Given the description of an element on the screen output the (x, y) to click on. 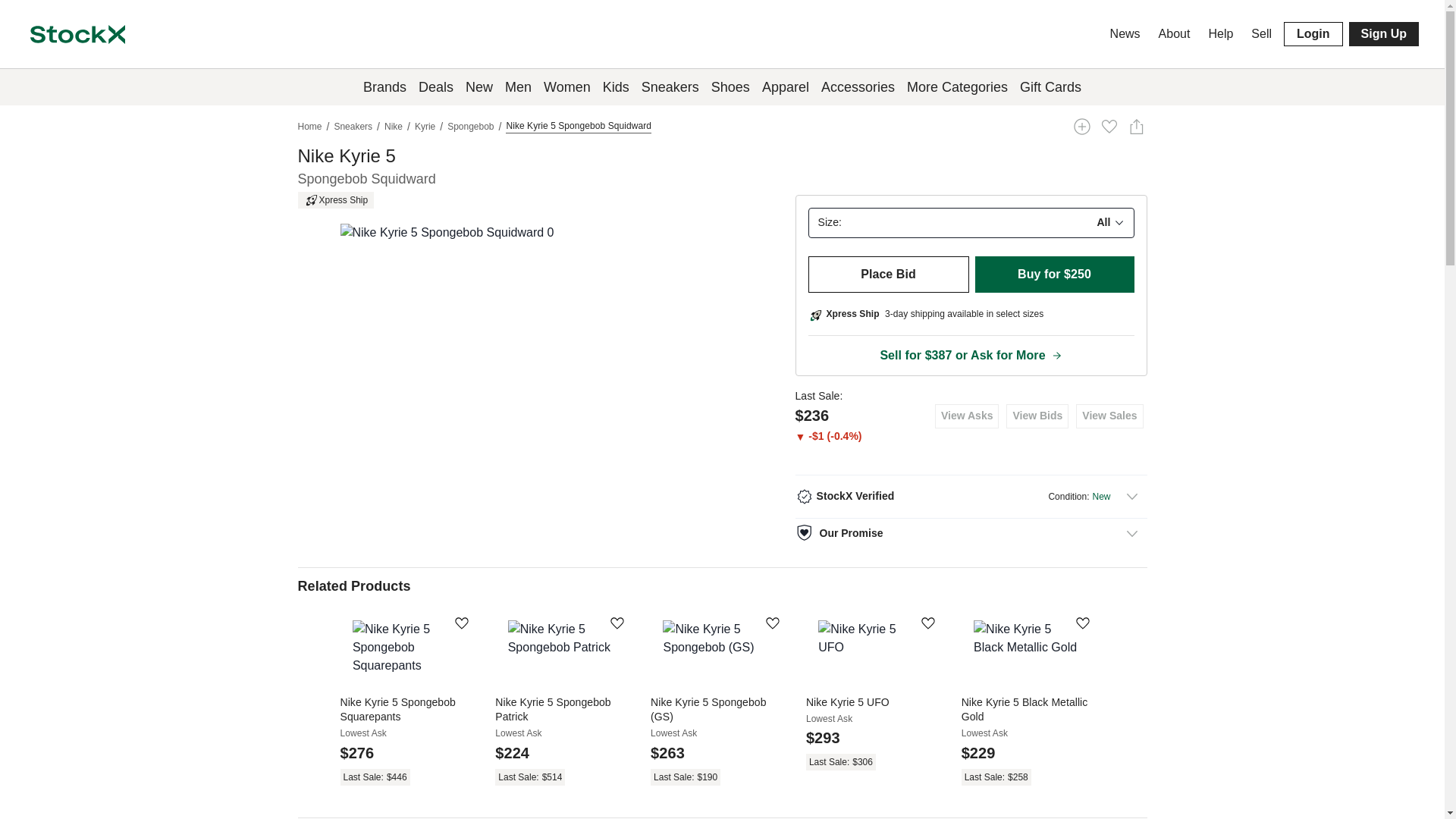
StockX Logo (77, 34)
About (1174, 33)
Sell (1261, 33)
Help (1220, 33)
StockX Logo (77, 33)
News (1125, 33)
Sign Up (1383, 33)
StockX Logo (77, 34)
Login (1313, 33)
